Given the description of an element on the screen output the (x, y) to click on. 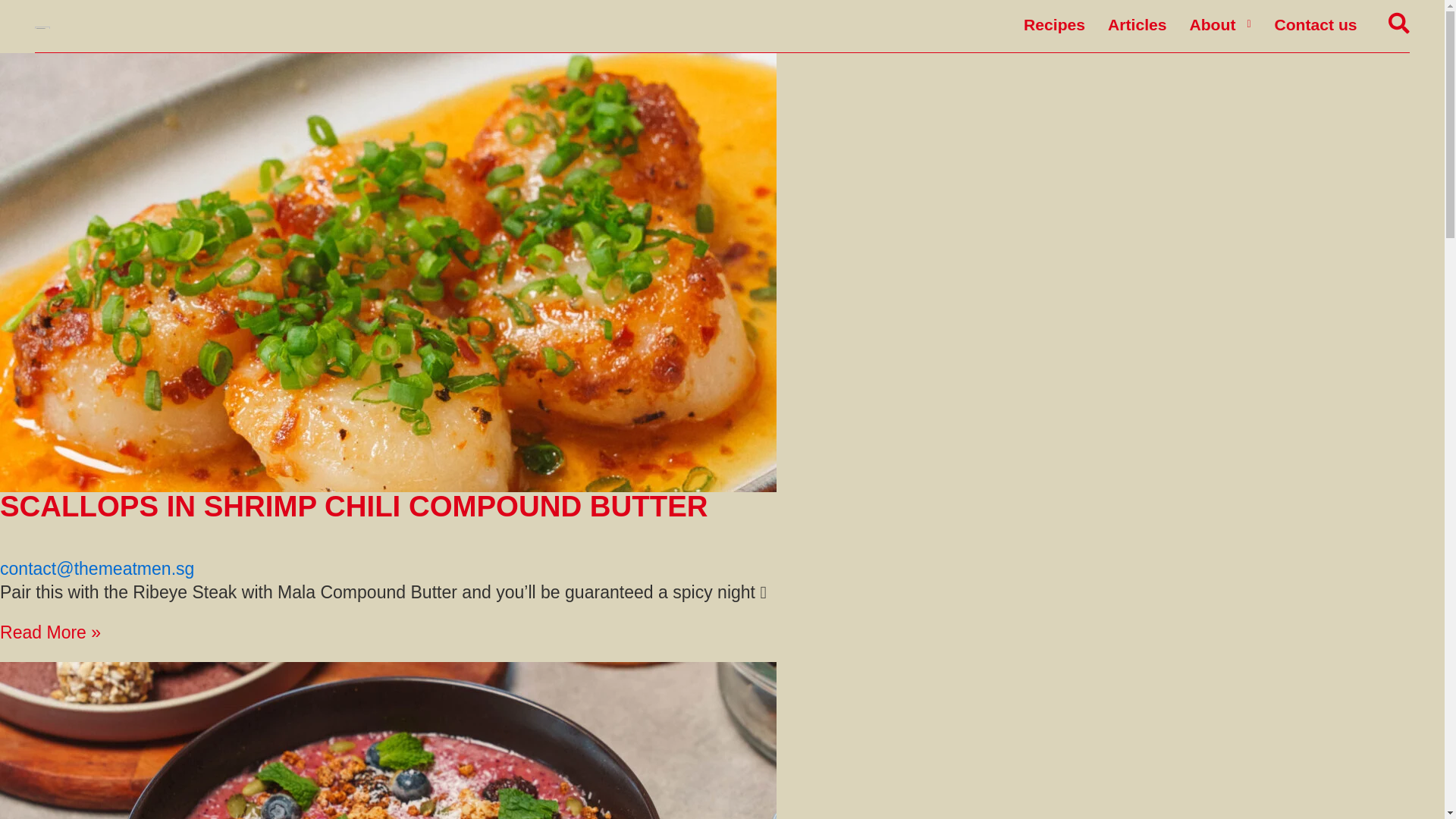
SCALLOPS IN SHRIMP CHILI COMPOUND BUTTER (353, 505)
Contact us (1309, 24)
About (1206, 24)
Recipes (1047, 24)
Articles (1131, 24)
